Given the description of an element on the screen output the (x, y) to click on. 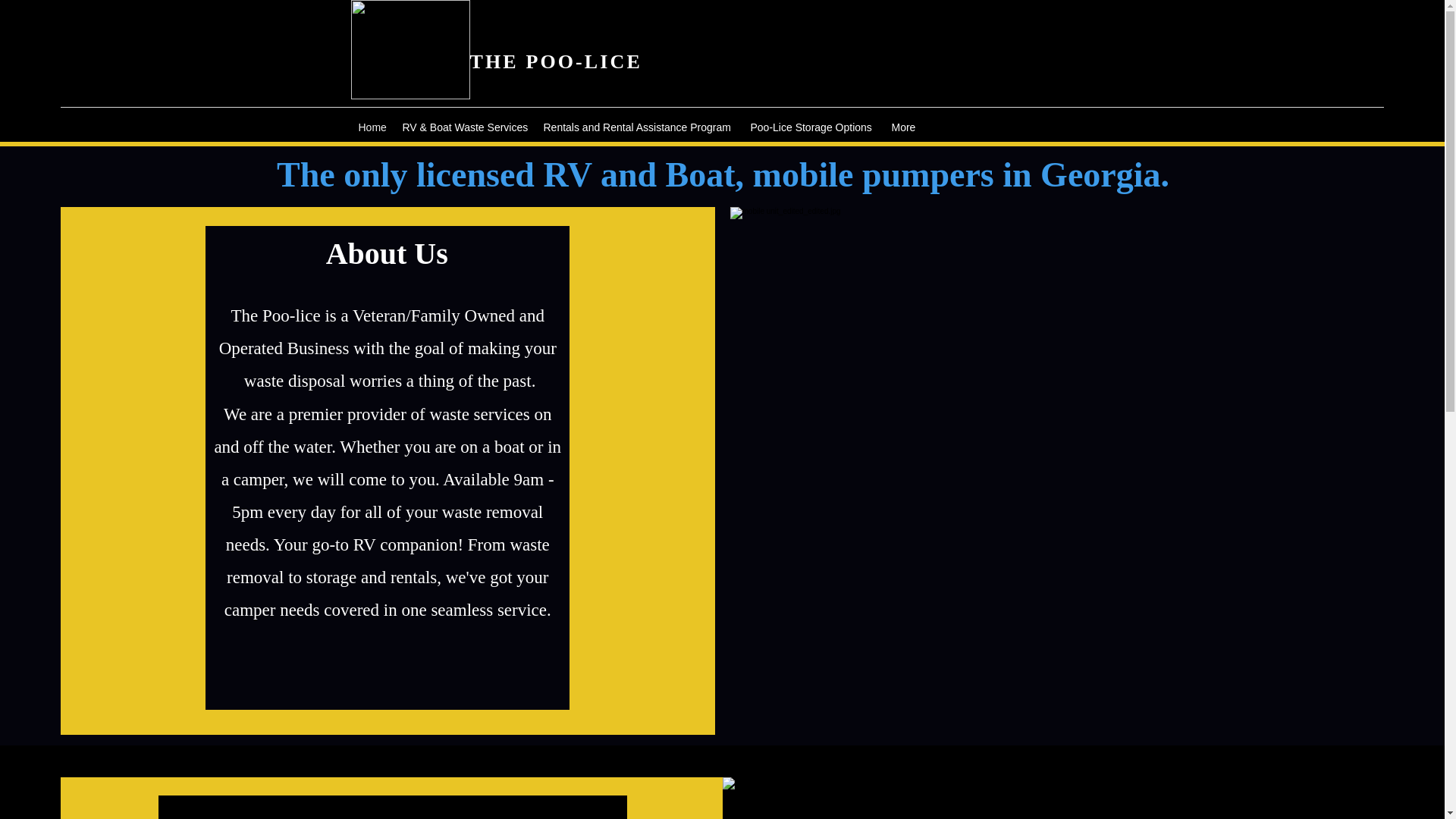
Home (372, 127)
Poo-Lice Storage Options (812, 127)
Rentals and Rental Assistance Program (638, 127)
